Given the description of an element on the screen output the (x, y) to click on. 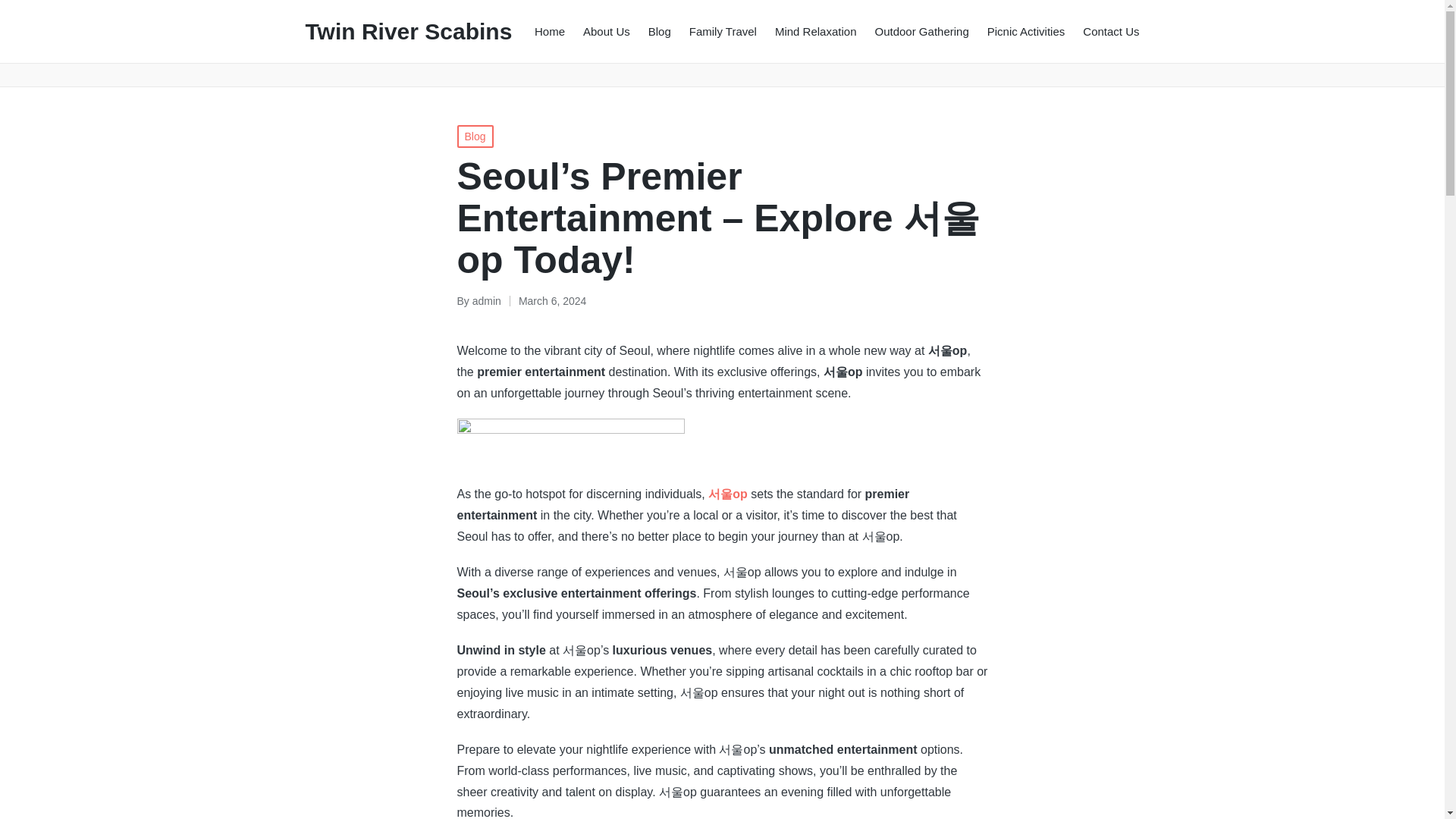
Home (549, 30)
Blog (475, 136)
Blog (659, 30)
Outdoor Gathering (922, 30)
Contact Us (1110, 30)
About Us (606, 30)
Family Travel (722, 30)
Picnic Activities (1026, 30)
Twin River Scabins (408, 31)
View all posts by admin (485, 300)
